Given the description of an element on the screen output the (x, y) to click on. 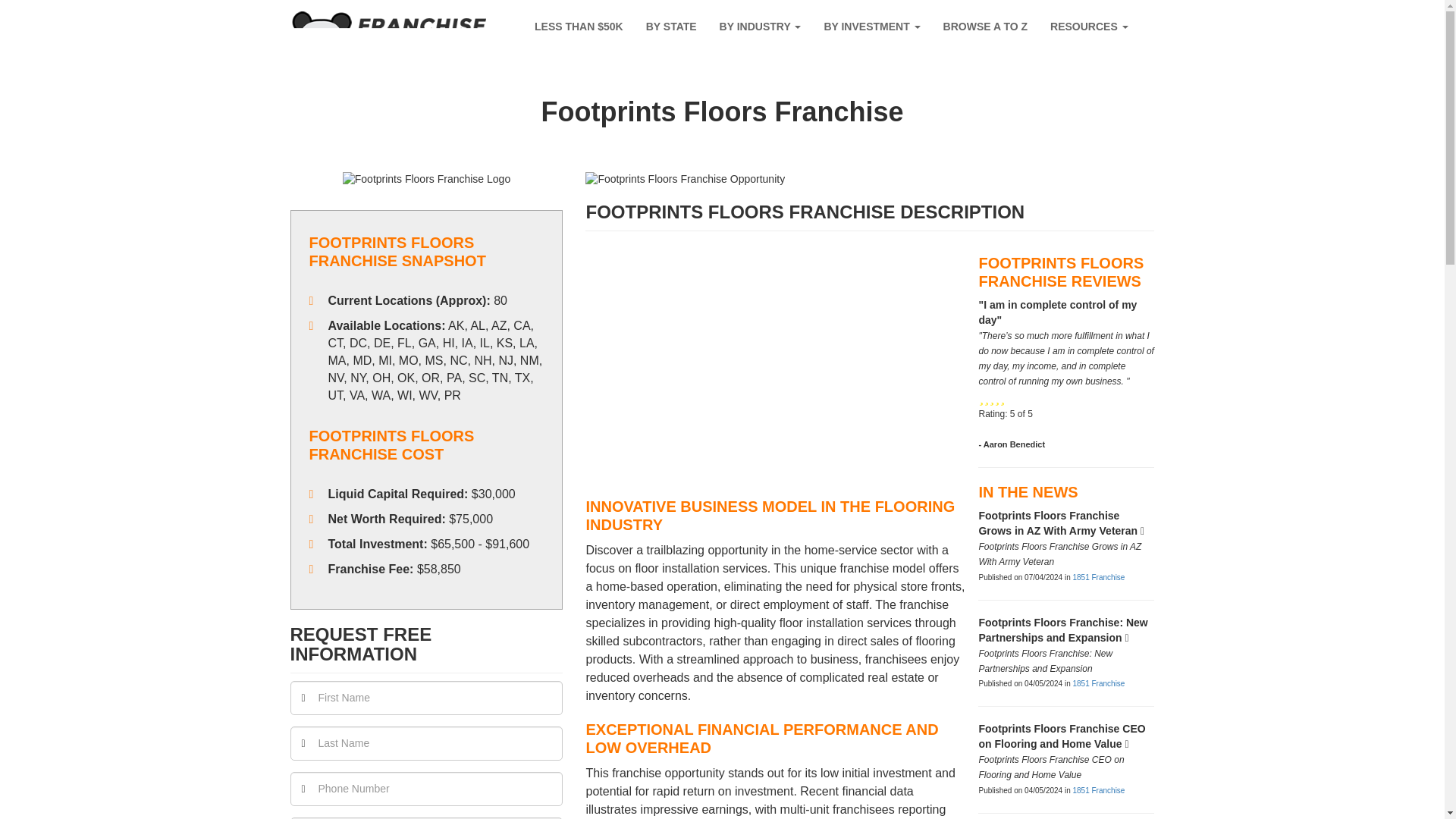
BY STATE (670, 26)
Franchises for Sale by State (670, 26)
BROWSE A TO Z (985, 26)
BY INDUSTRY (759, 26)
BY INVESTMENT (871, 26)
RESOURCES (1089, 26)
